Given the description of an element on the screen output the (x, y) to click on. 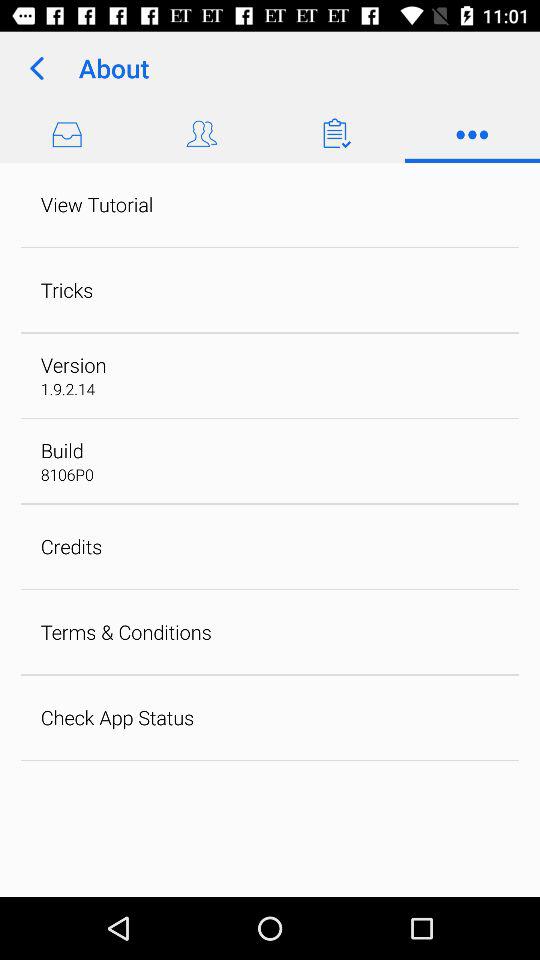
launch the item at the bottom left corner (117, 717)
